Given the description of an element on the screen output the (x, y) to click on. 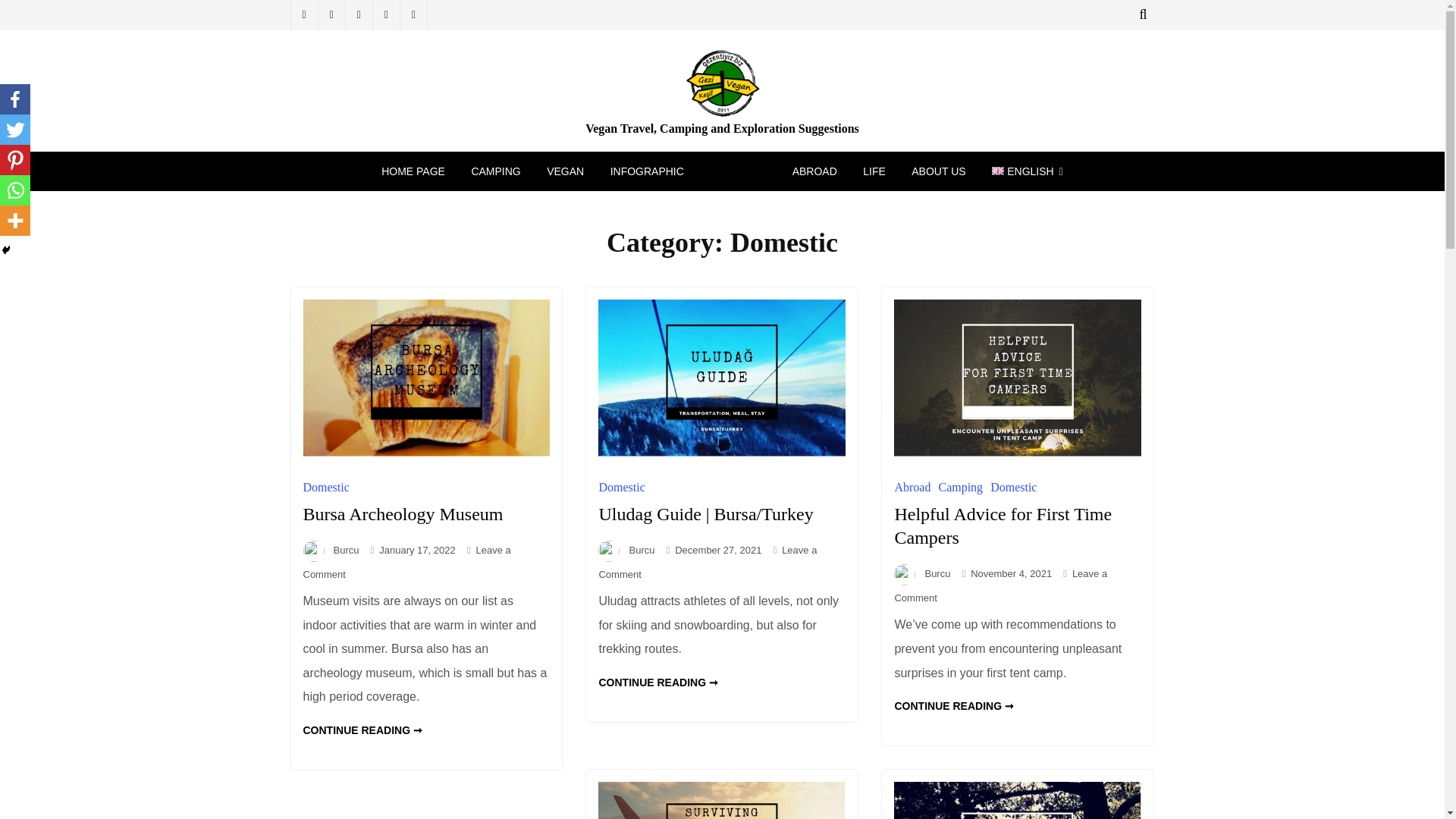
More (15, 220)
ENGLISH (1026, 170)
January 17, 2022 (406, 561)
CAMPING (416, 550)
LIFE (495, 170)
YouTube (873, 170)
Facebook (359, 15)
Facebook (15, 99)
Twitter (303, 15)
